Given the description of an element on the screen output the (x, y) to click on. 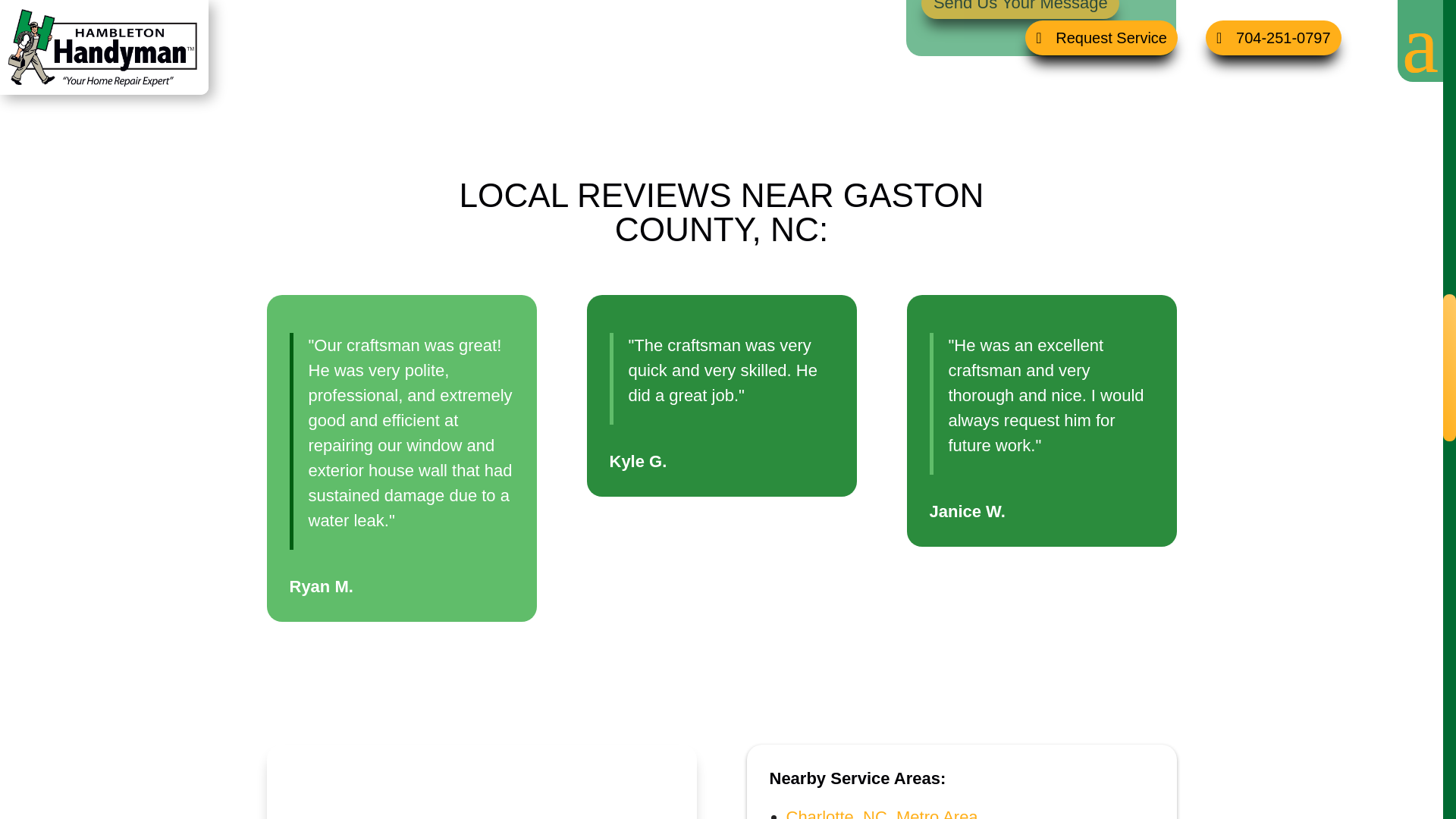
Send Us Your Message (1020, 9)
Charlotte, NC, Metro Area (881, 813)
Send Us Your Message (1020, 9)
